Given the description of an element on the screen output the (x, y) to click on. 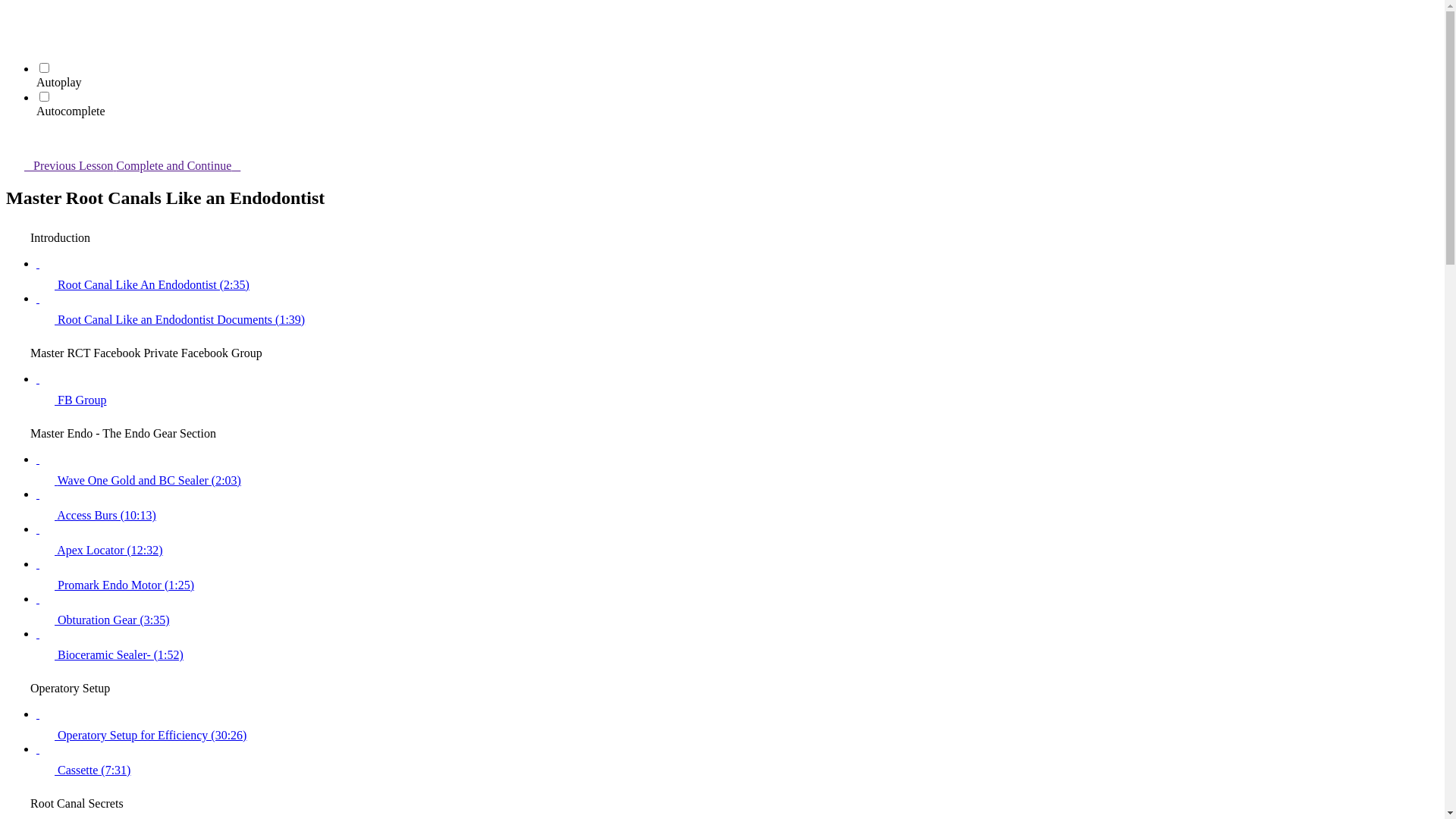
Back to course curriculum Element type: hover (15, 15)
Settings Menu Element type: hover (15, 36)
Course Sidebar Element type: hover (15, 139)
  Root Canal Like an Endodontist Documents (1:39) Element type: text (737, 308)
  Cassette (7:31) Element type: text (737, 759)
  Obturation Gear (3:35) Element type: text (737, 609)
  Apex Locator (12:32) Element type: text (737, 539)
  Operatory Setup for Efficiency (30:26) Element type: text (737, 724)
  Promark Endo Motor (1:25) Element type: text (737, 574)
  Root Canal Like An Endodontist (2:35) Element type: text (737, 274)
  Access Burs (10:13) Element type: text (737, 504)
  Bioceramic Sealer- (1:52) Element type: text (737, 644)
  FB Group Element type: text (737, 389)
  Wave One Gold and BC Sealer (2:03) Element type: text (737, 469)
  Previous Lesson Element type: text (61, 165)
Complete and Continue   Element type: text (187, 165)
